Given the description of an element on the screen output the (x, y) to click on. 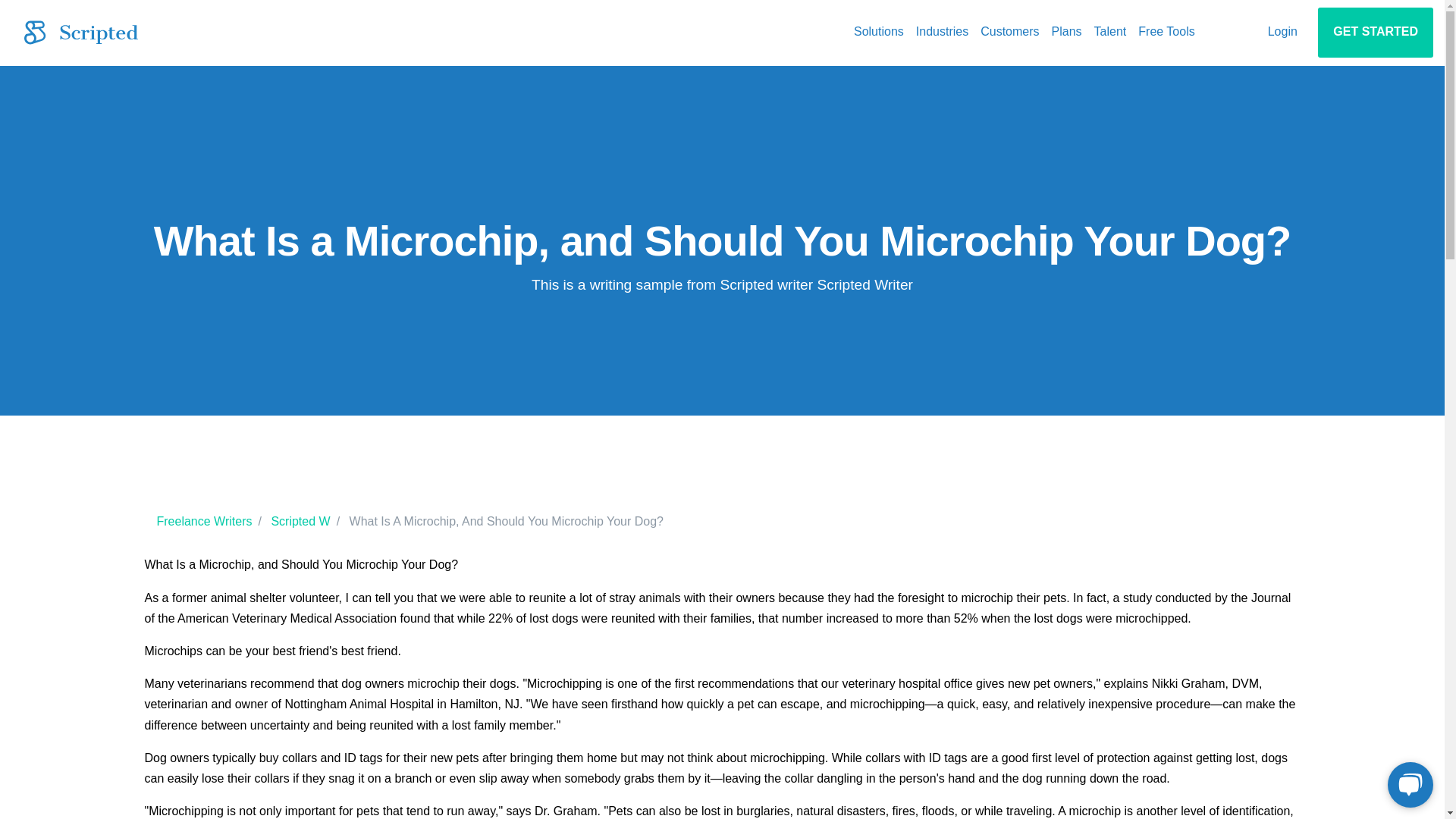
Free Tools (1165, 32)
GET STARTED (1374, 32)
Industries (942, 32)
Customers (1009, 32)
Talent (1109, 32)
Solutions (878, 32)
